Given the description of an element on the screen output the (x, y) to click on. 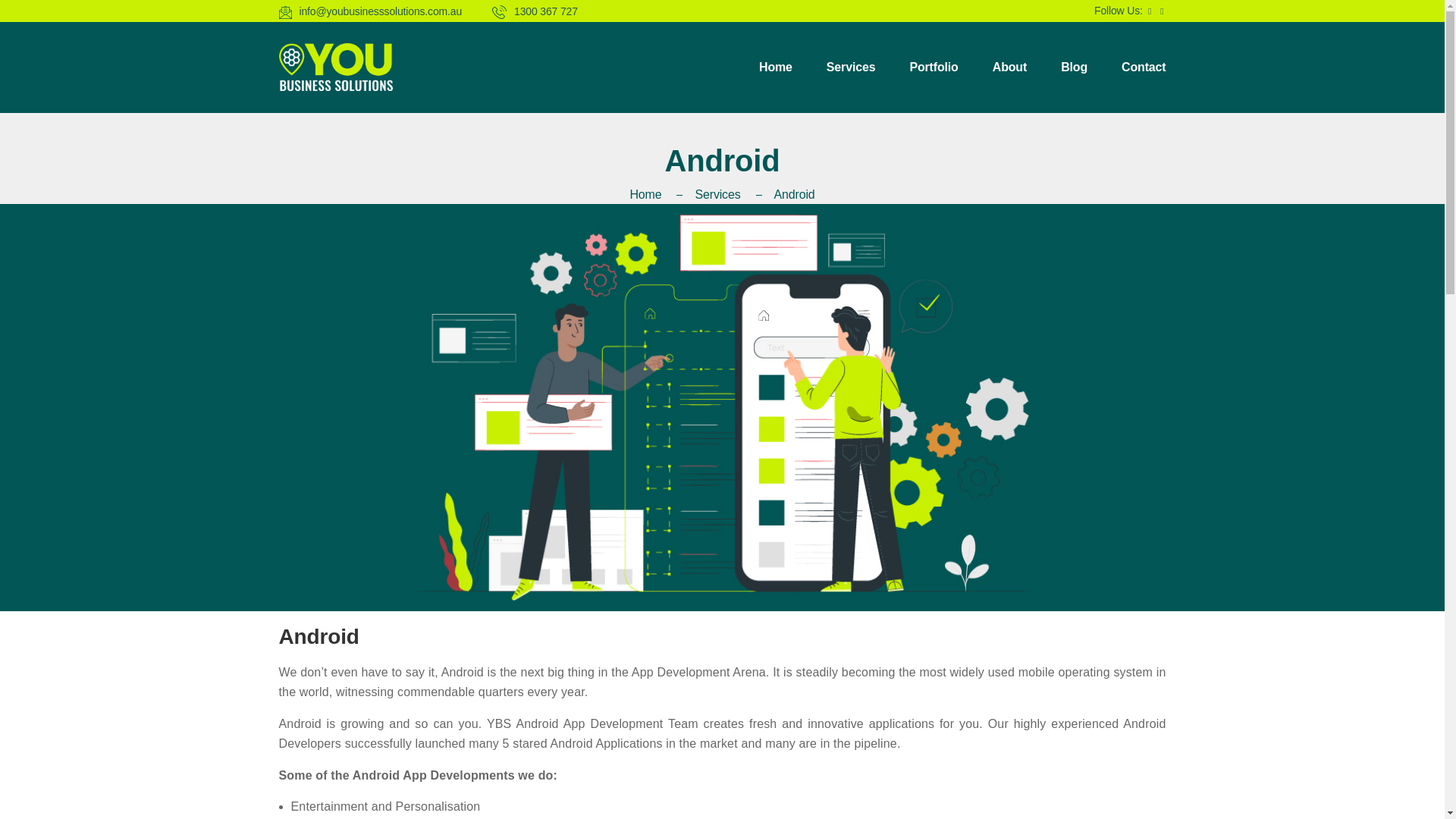
About (1009, 67)
Services (733, 194)
Home (775, 67)
1300 367 727 (535, 10)
Home (661, 194)
Blog (1074, 67)
Portfolio (933, 67)
Services (851, 67)
